Given the description of an element on the screen output the (x, y) to click on. 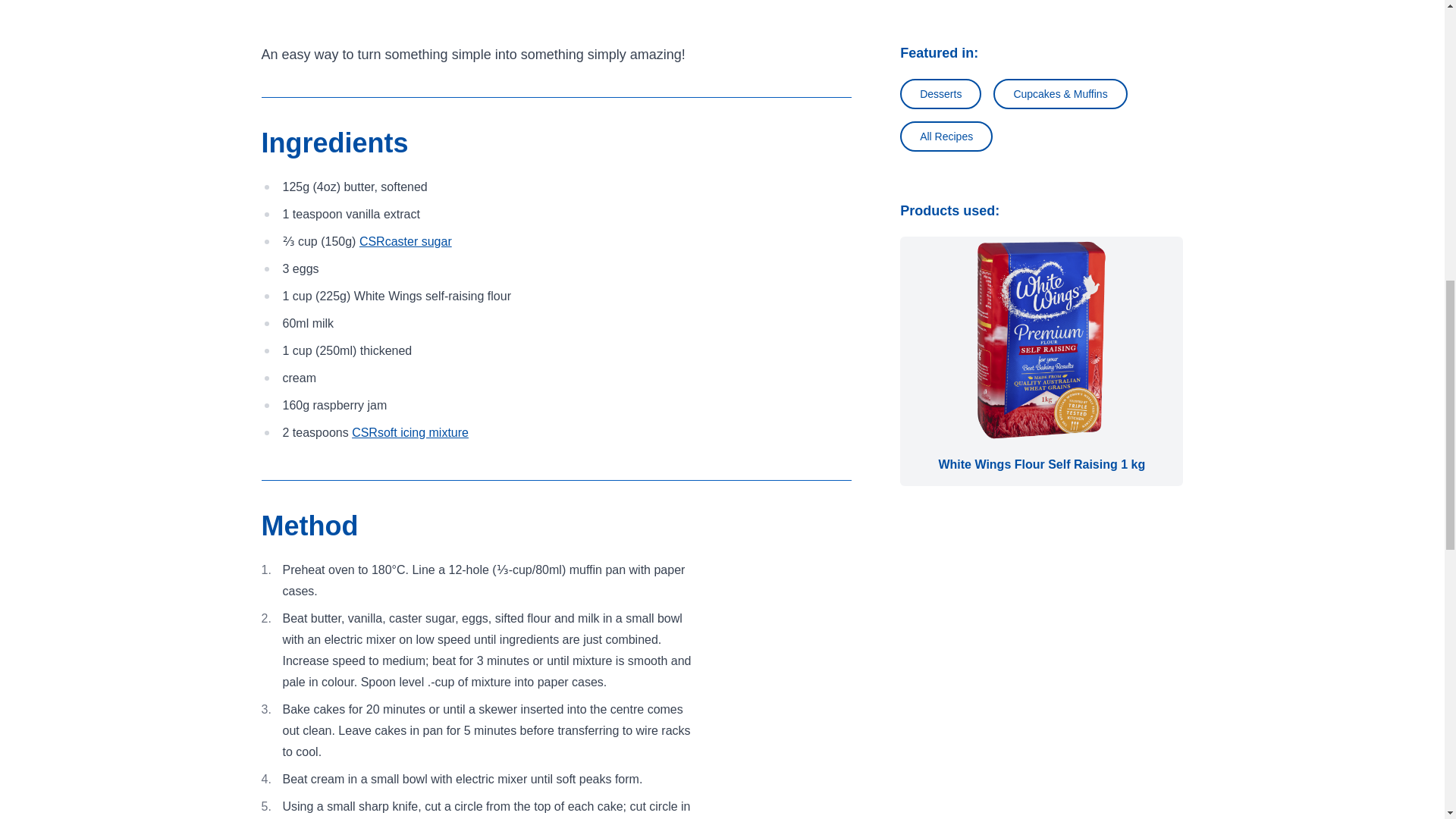
CSRcaster sugar (405, 241)
All Recipes (945, 136)
White Wings Flour Self Raising 1 kg (1041, 339)
White Wings Flour Self Raising 1 kg (1040, 361)
Desserts (940, 93)
CSRsoft icing mixture (410, 431)
